Given the description of an element on the screen output the (x, y) to click on. 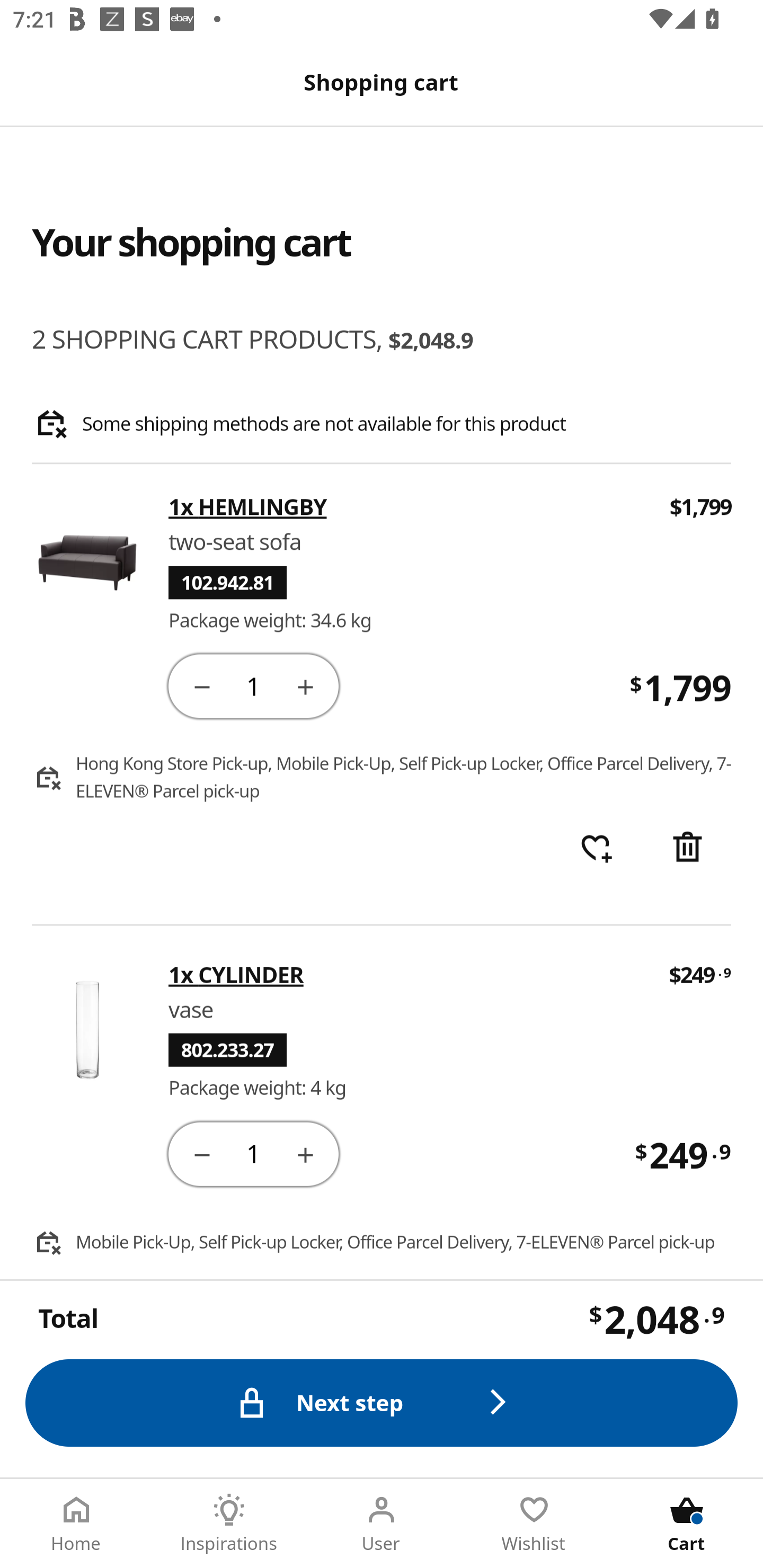
1x  HEMLINGBY 1x  HEMLINGBY (406, 507)
1 (253, 685)
 (201, 685)
 (305, 685)
  (595, 848)
 (686, 848)
1x  CYLINDER 1x  CYLINDER (405, 974)
1 (253, 1153)
 (201, 1153)
 (305, 1153)
Home
Tab 1 of 5 (76, 1522)
Inspirations
Tab 2 of 5 (228, 1522)
User
Tab 3 of 5 (381, 1522)
Wishlist
Tab 4 of 5 (533, 1522)
Cart
Tab 5 of 5 (686, 1522)
